Given the description of an element on the screen output the (x, y) to click on. 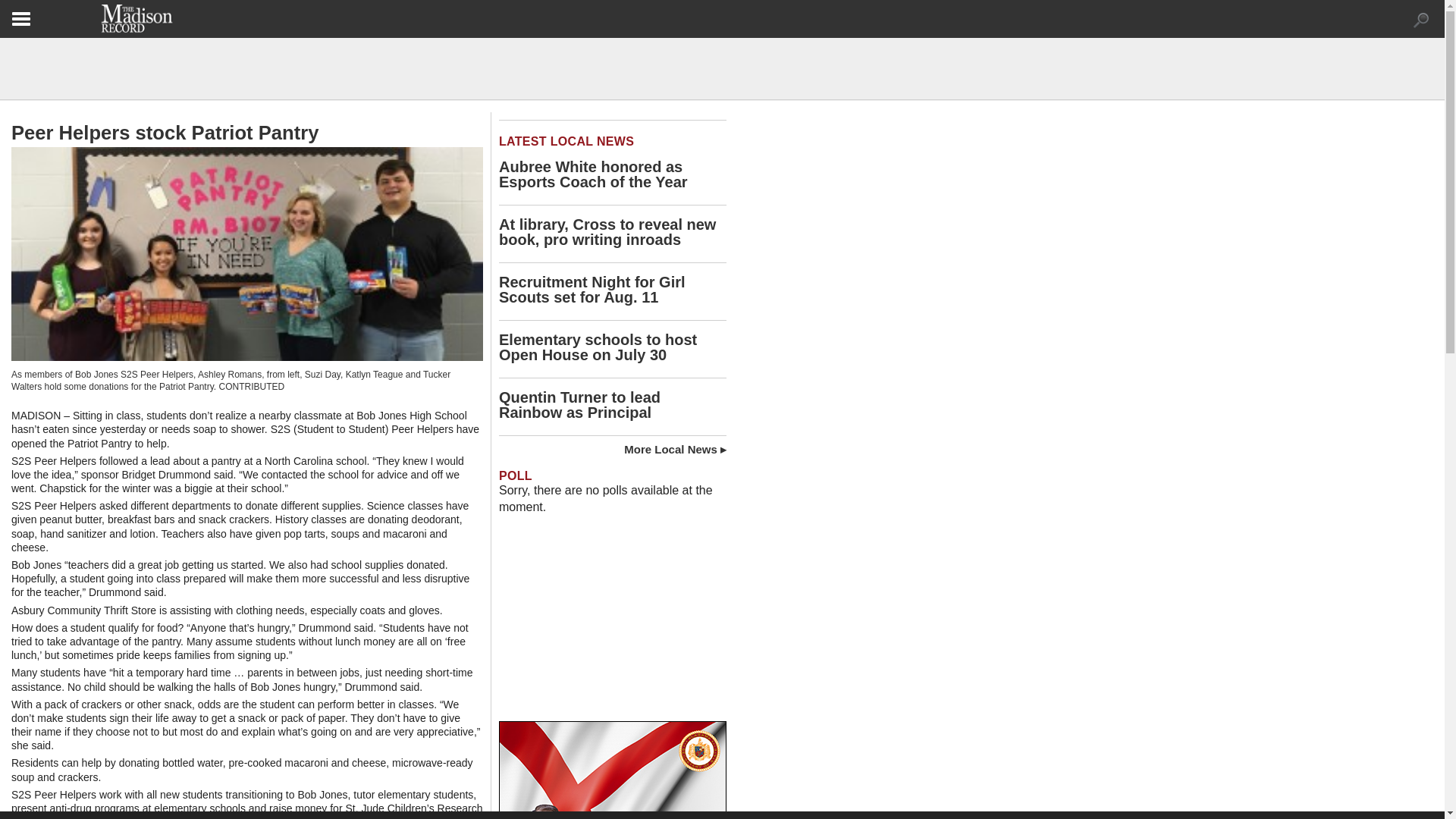
At library, Cross to reveal new book, pro writing inroads (607, 232)
Quentin Turner to lead Rainbow as Principal (580, 404)
Recruitment Night for Girl Scouts set for Aug. 11 (592, 289)
More Local News (675, 449)
expand (1420, 20)
Recruitment Night for Girl Scouts set for Aug. 11 (592, 289)
Aubree White honored as Esports Coach of the Year (593, 174)
Aubree White honored as Esports Coach of the Year (593, 174)
Quentin Turner to lead Rainbow as Principal (580, 404)
At library, Cross to reveal new book, pro writing inroads (607, 232)
Elementary schools to host Open House on July 30 (598, 347)
Elementary schools to host Open House on July 30 (598, 347)
Voter ID 300x250 (612, 770)
3rd party ad content (612, 626)
